Given the description of an element on the screen output the (x, y) to click on. 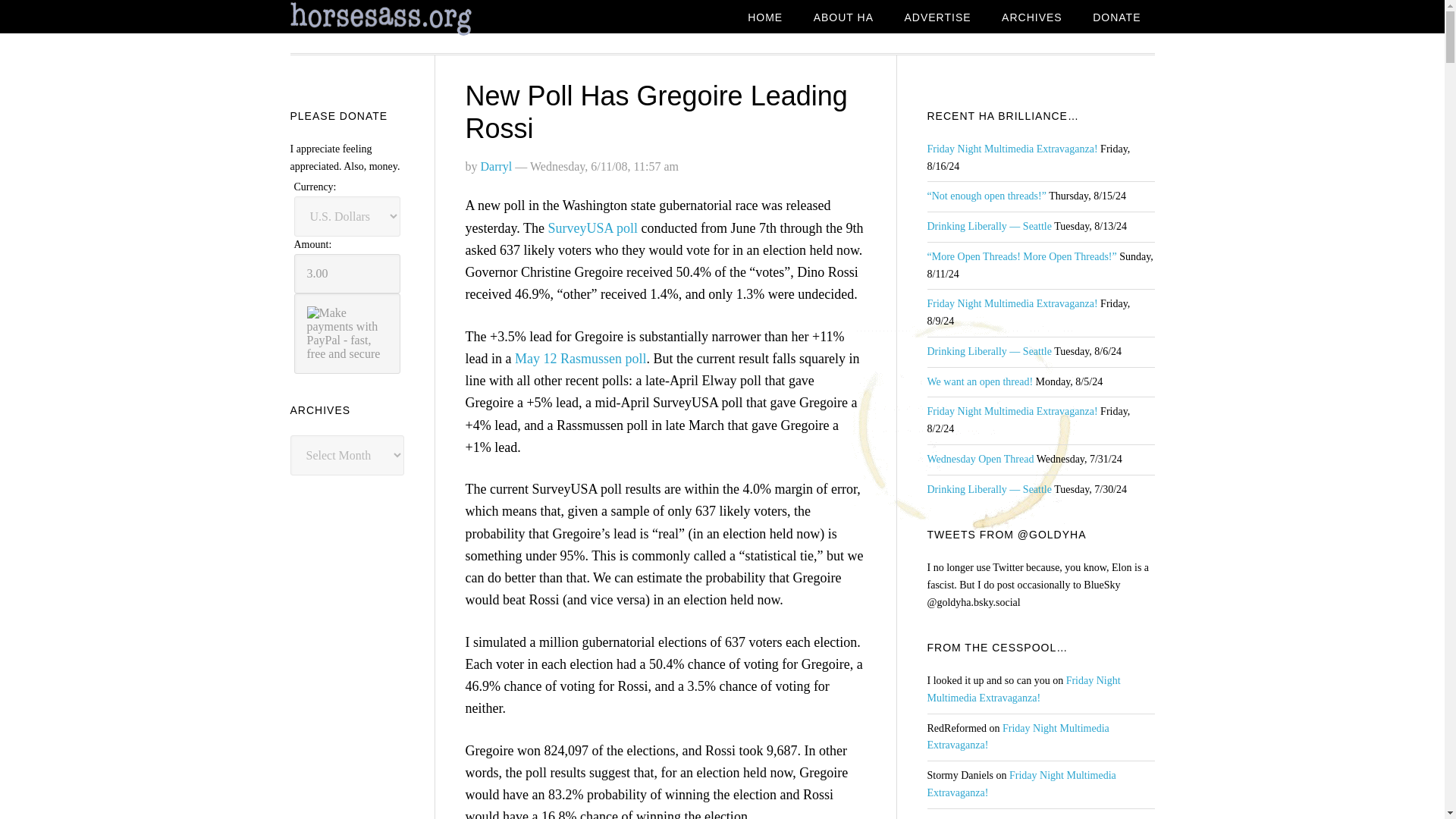
ABOUT HA (842, 17)
May 12 Rasmussen poll (580, 358)
Darryl (496, 165)
SurveyUSA poll (592, 227)
DONATE (1116, 17)
3.00 (347, 273)
ADVERTISE (936, 17)
ARCHIVES (1031, 17)
HOME (764, 17)
The amount you wish to donate (347, 273)
